Given the description of an element on the screen output the (x, y) to click on. 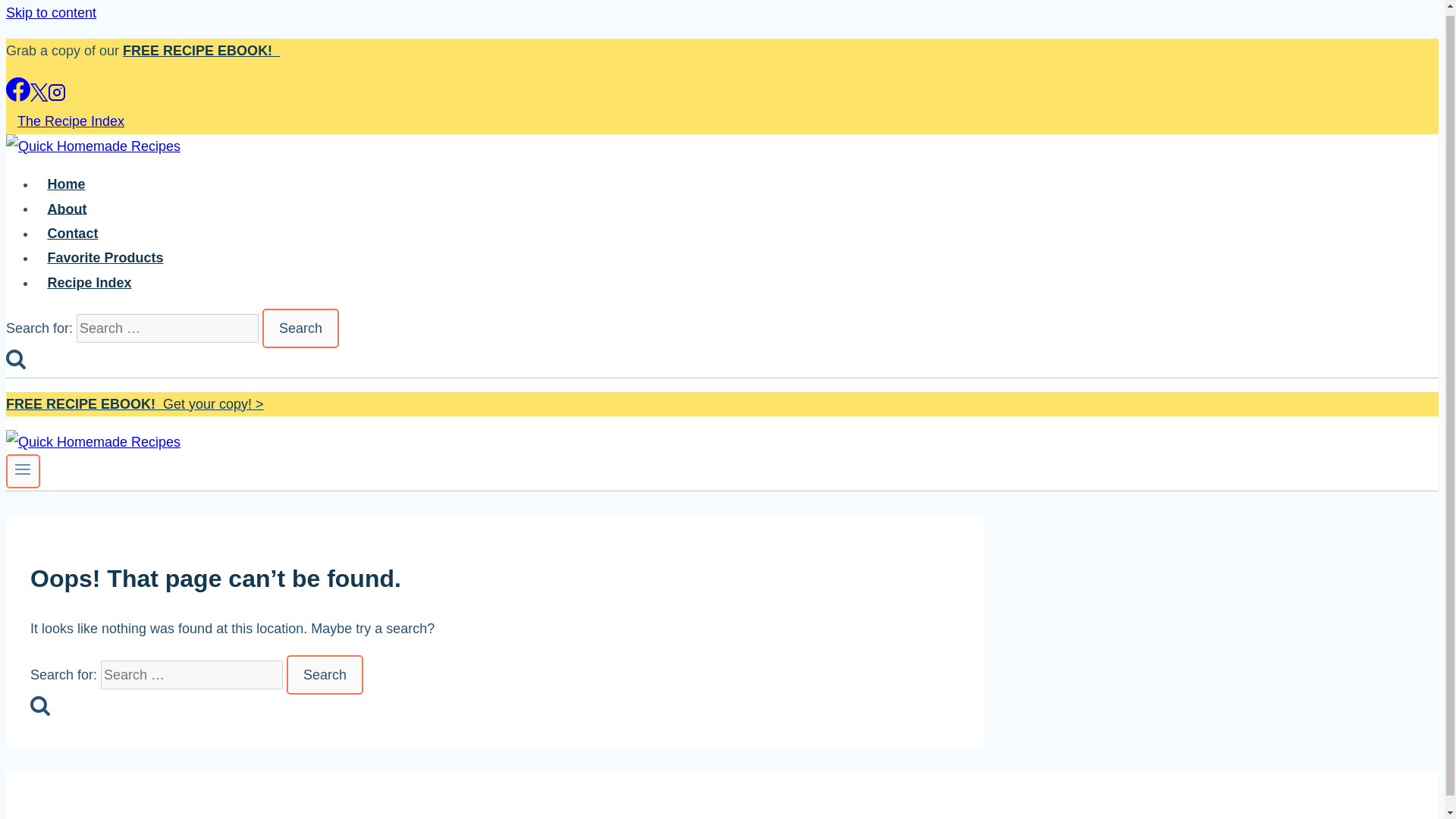
X (39, 92)
Recipe Index (89, 282)
Home (66, 183)
Search (300, 328)
Toggle Menu (22, 470)
Skip to content (50, 12)
The Recipe Index (70, 117)
Facebook (17, 88)
Search (324, 674)
Toggle Menu (22, 469)
